Given the description of an element on the screen output the (x, y) to click on. 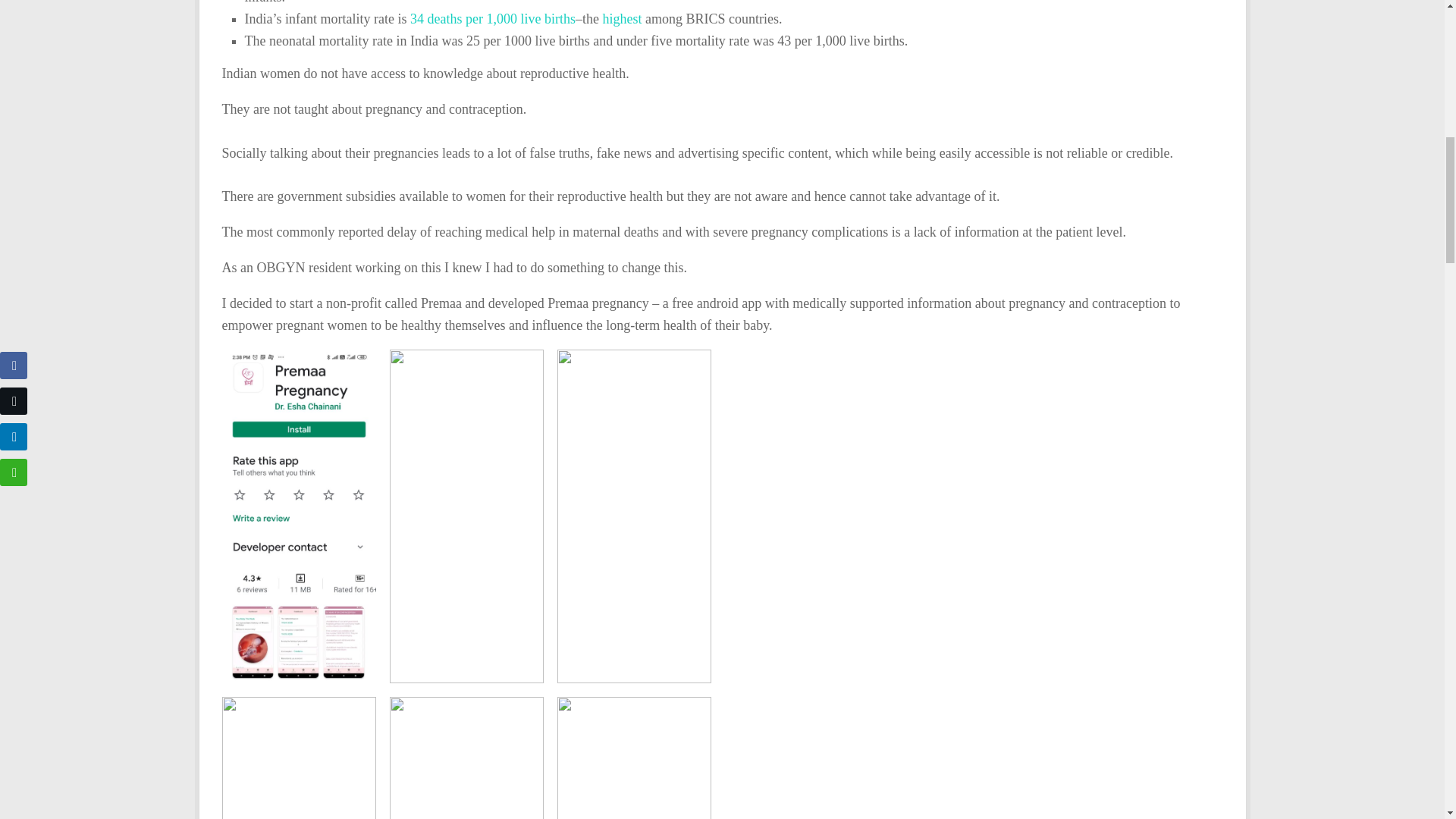
34 deaths per 1,000 live births (492, 18)
highest (622, 18)
